Given the description of an element on the screen output the (x, y) to click on. 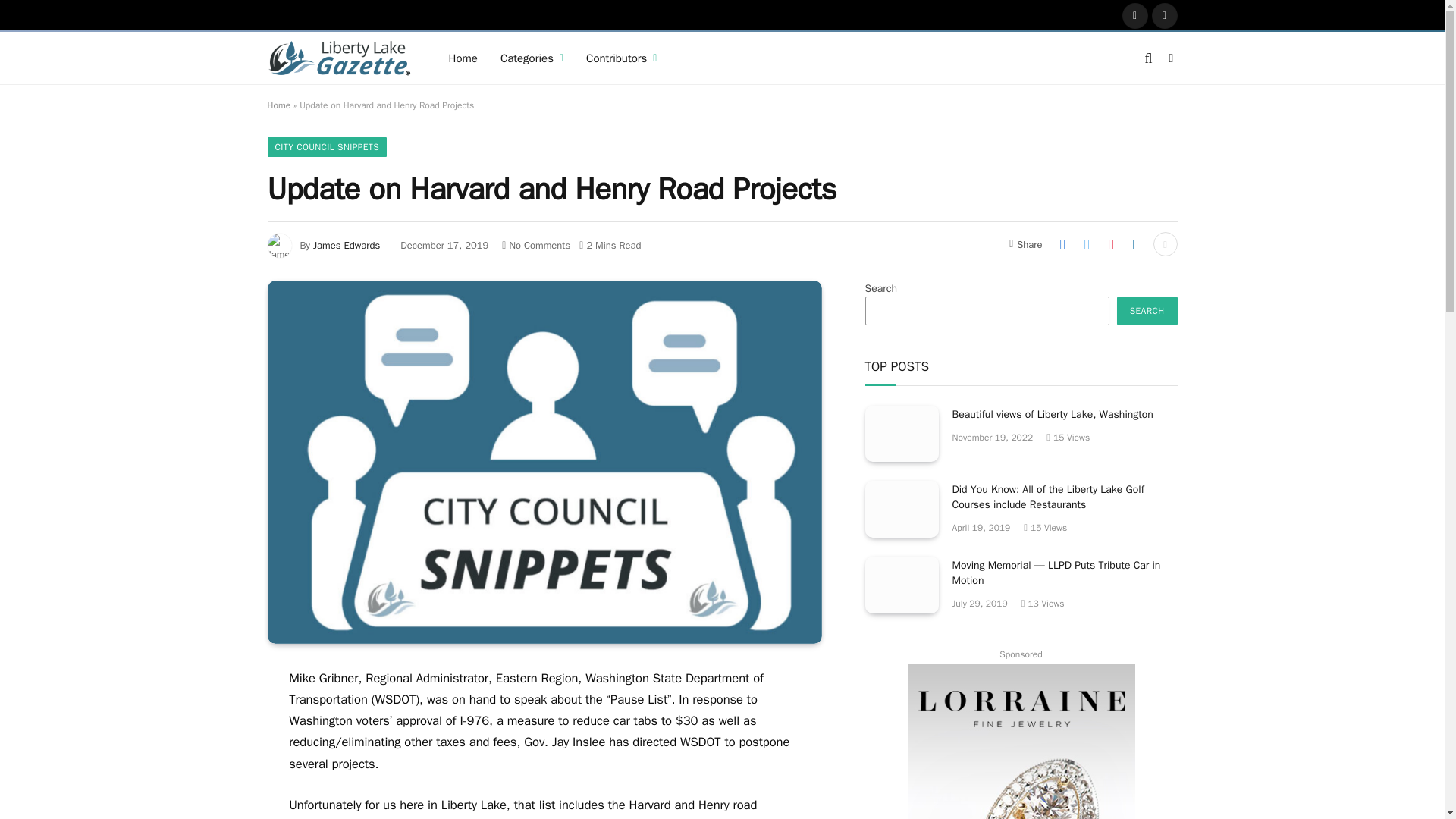
Home (277, 105)
Posts by James Edwards (346, 245)
James Edwards (346, 245)
No Comments (536, 245)
Categories (532, 57)
Share on Facebook (1062, 243)
Switch to Dark Design - easier on eyes. (1168, 57)
Share on LinkedIn (1135, 243)
YouTube (1164, 15)
Liberty Lake Gazette (338, 58)
